Given the description of an element on the screen output the (x, y) to click on. 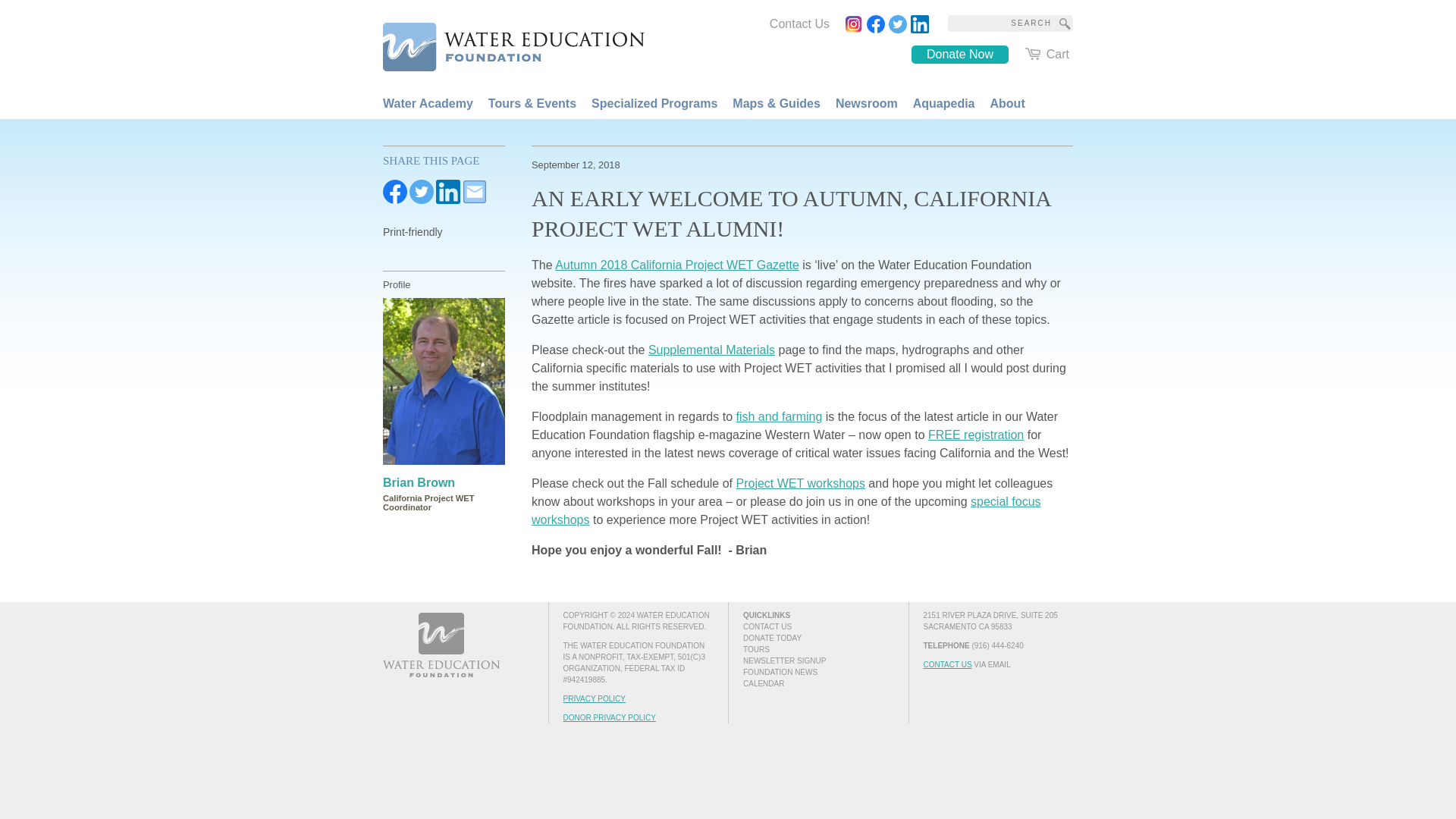
Water Education Foundation home page (504, 44)
Contact Us (799, 24)
Donate Now (960, 54)
Contact Us (799, 24)
Cart (1046, 54)
Cart (1046, 54)
Water Academy (427, 103)
Water Academy (427, 103)
Donate Now (960, 54)
Search keywords (999, 23)
